Given the description of an element on the screen output the (x, y) to click on. 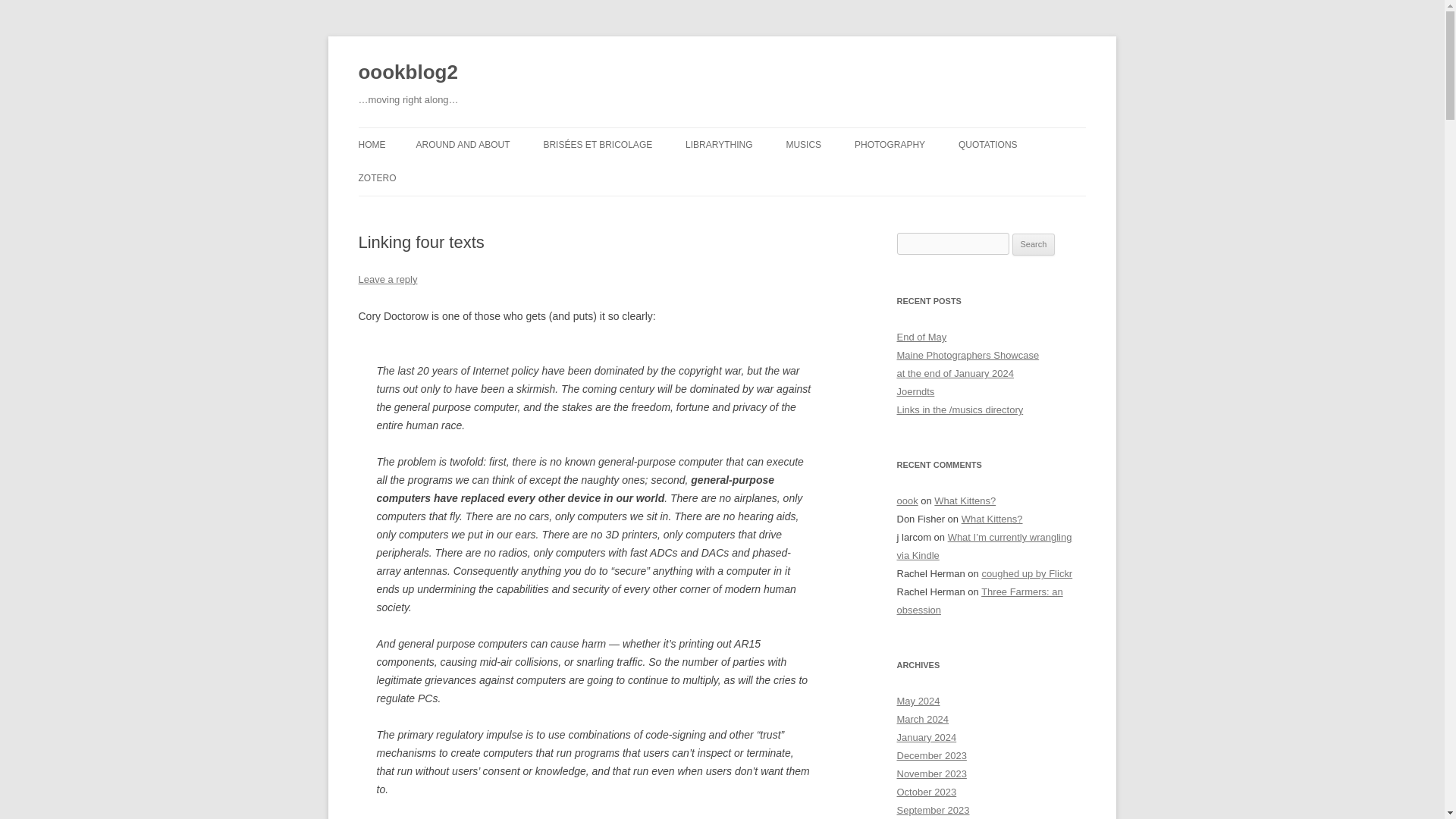
coughed up by Flickr (1026, 573)
oook (906, 500)
What Kittens? (964, 500)
LIBRARYTHING (718, 144)
oookblog2 (407, 72)
AROUND AND ABOUT (461, 144)
Three Farmers: an obsession (979, 600)
March 2024 (922, 718)
End of May (921, 337)
QUOTATIONS (987, 144)
PHOTOGRAPHY (889, 144)
oookblog2 (407, 72)
ZOTERO (377, 177)
Leave a reply (387, 279)
